Given the description of an element on the screen output the (x, y) to click on. 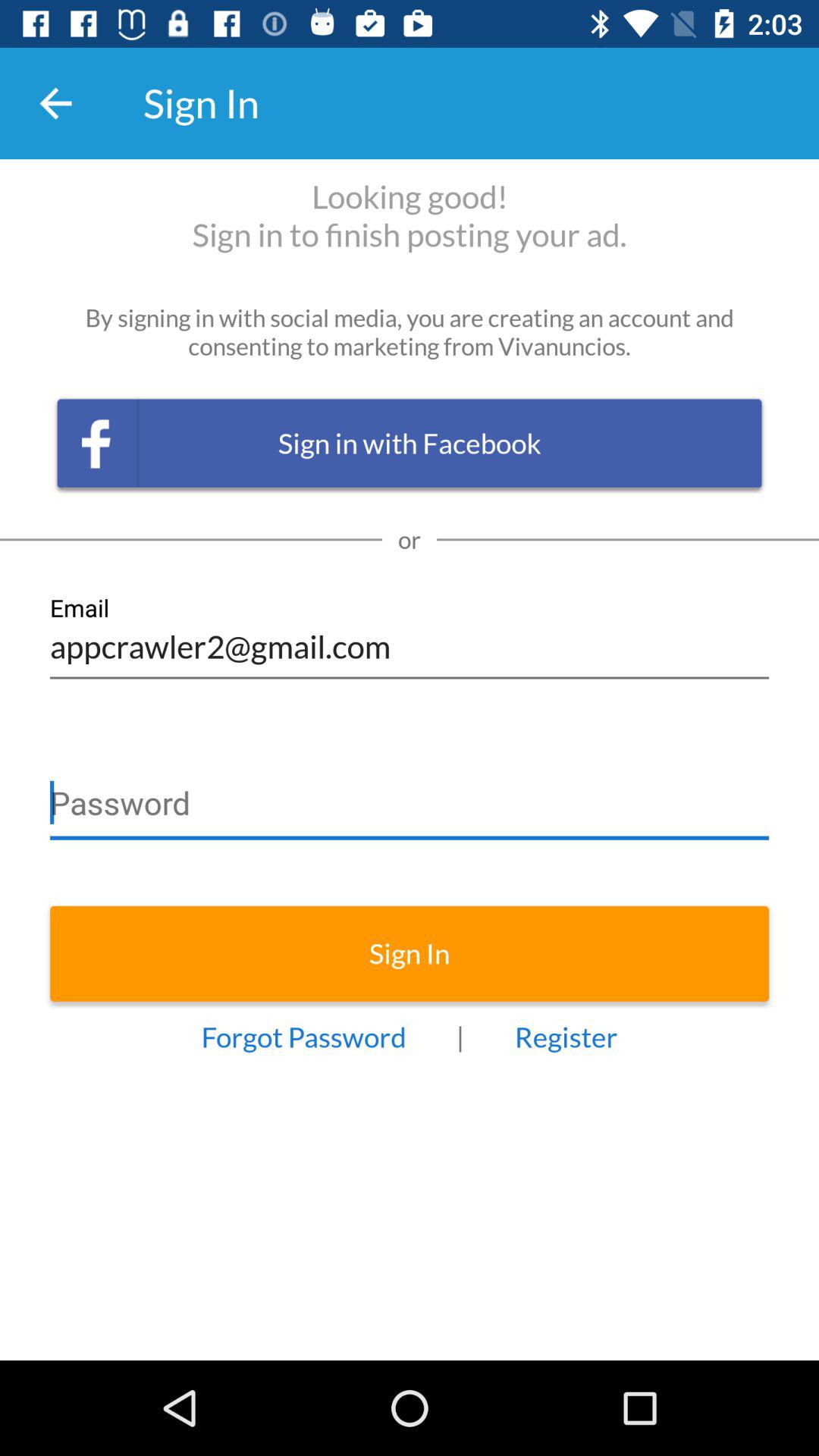
select item to the left of the sign in (55, 103)
